Given the description of an element on the screen output the (x, y) to click on. 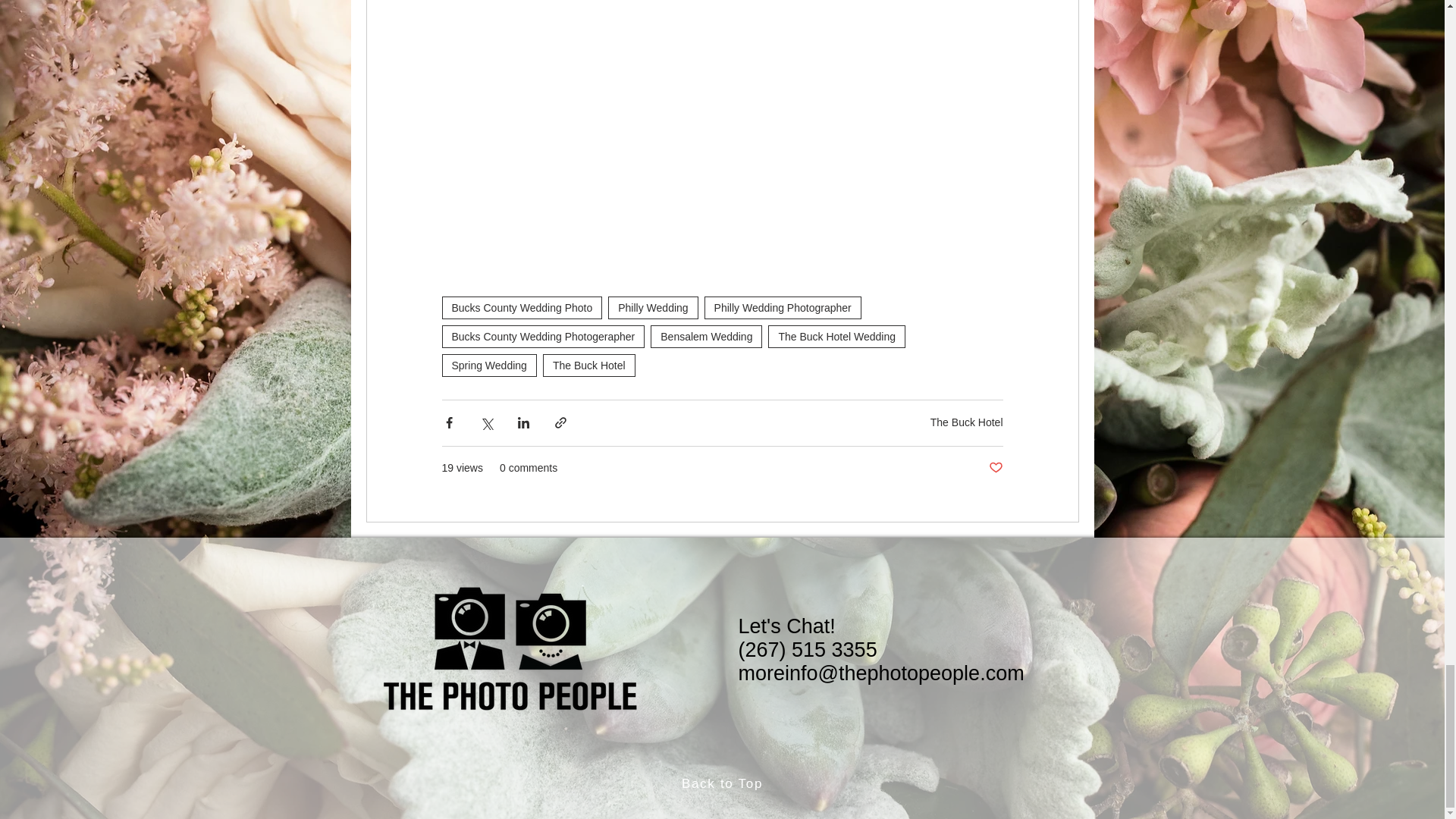
Bucks County Wedding Photogerapher (543, 336)
Bensalem Wedding (705, 336)
The Buck Hotel Wedding (836, 336)
Bucks County Wedding Photo (521, 307)
The Buck Hotel (588, 364)
Philly Wedding (652, 307)
Spring Wedding (488, 364)
Philly Wedding Photographer (782, 307)
